Given the description of an element on the screen output the (x, y) to click on. 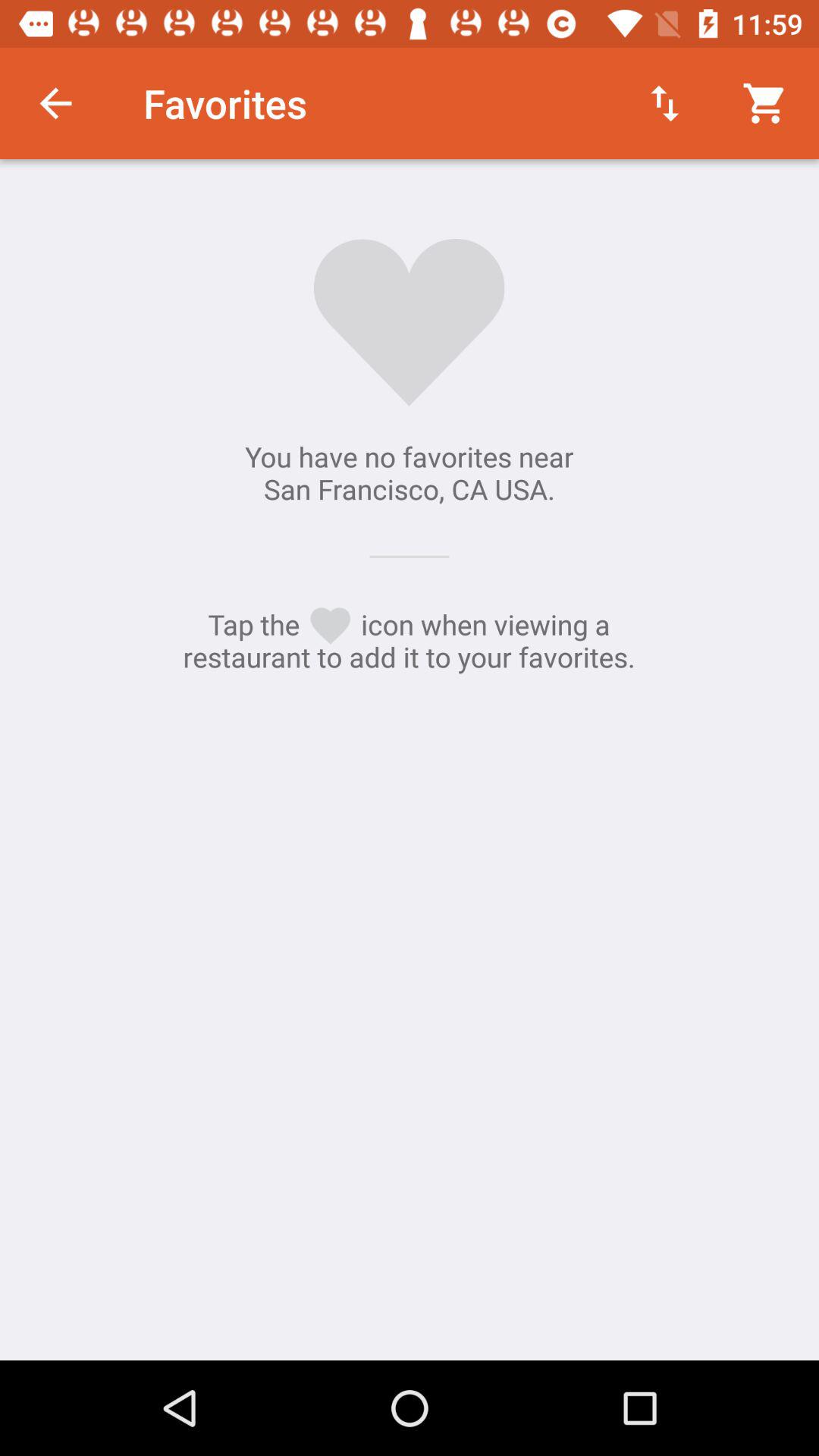
turn on the icon to the right of the favorites item (664, 103)
